Given the description of an element on the screen output the (x, y) to click on. 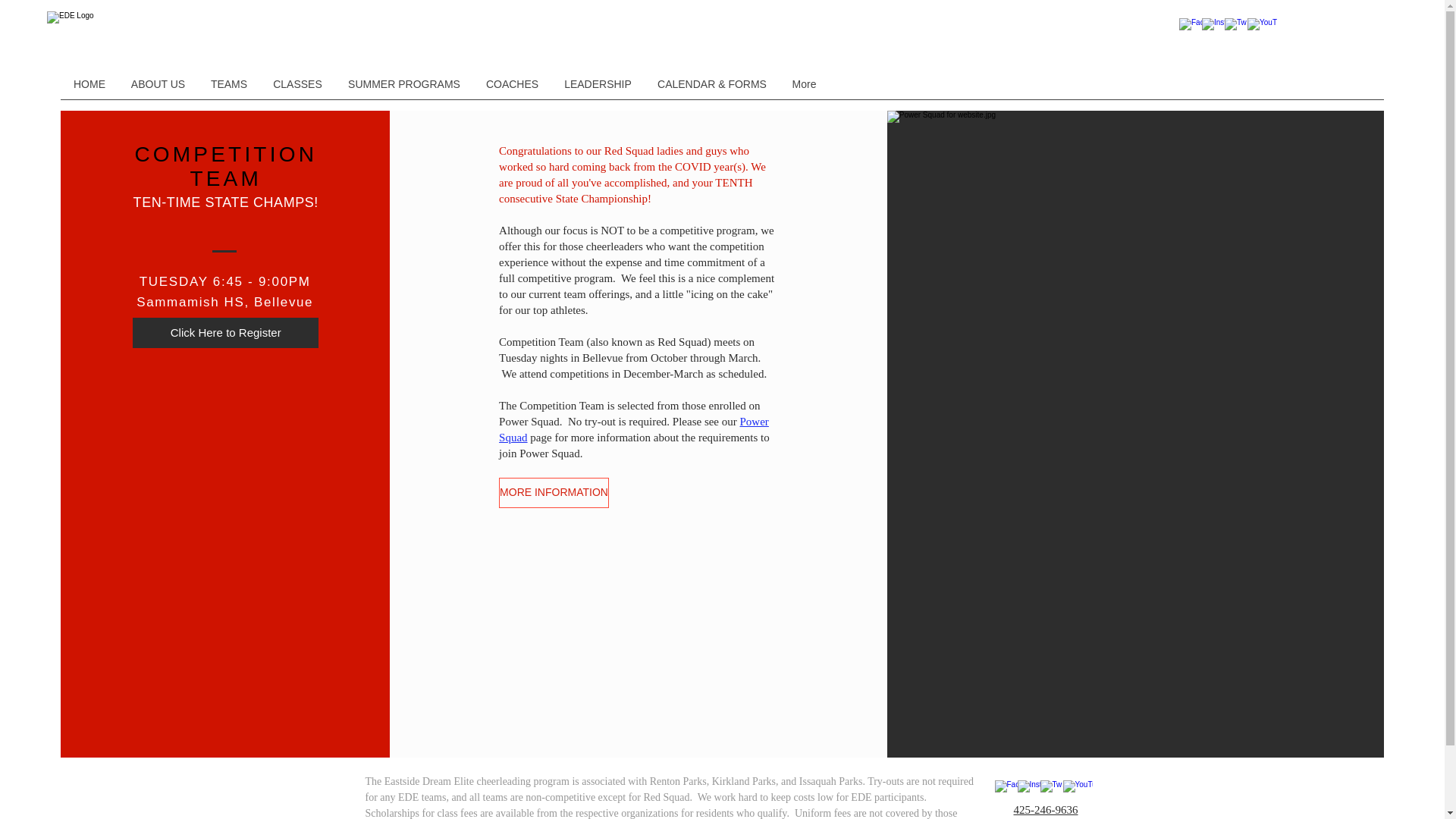
LEADERSHIP (598, 83)
HOME (89, 83)
425-246-9636 (1045, 809)
COACHES (512, 83)
Power Squad (633, 429)
Click Here to Register (225, 332)
MORE INFORMATION (553, 492)
SUMMER PROGRAMS (403, 83)
ABOUT US (157, 83)
